Given the description of an element on the screen output the (x, y) to click on. 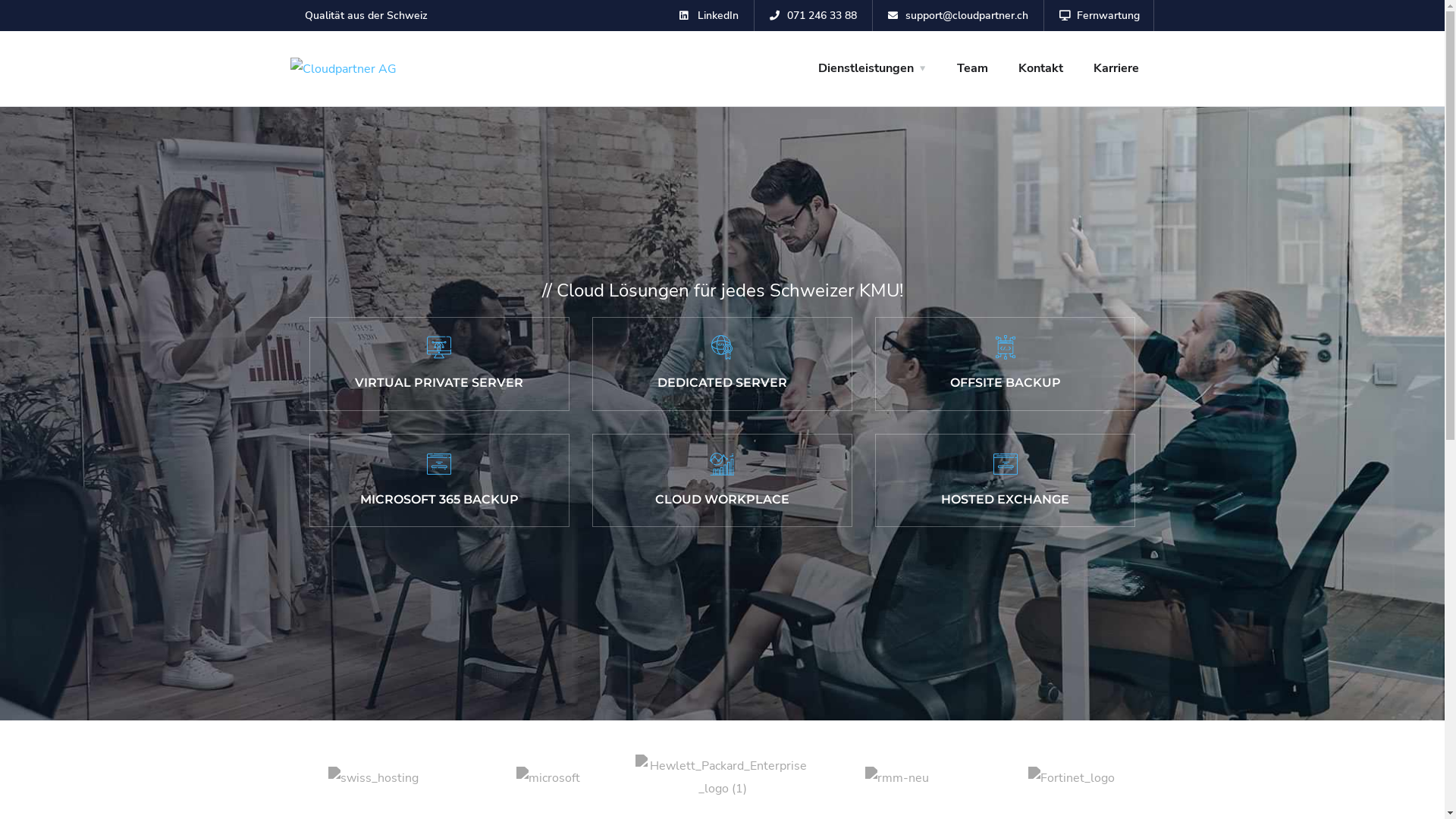
Fernwartung Element type: text (1099, 15)
071 246 33 88 Element type: text (812, 15)
MICROSOFT 365 BACKUP Element type: text (439, 480)
OFFSITE BACKUP Element type: text (1005, 363)
DEDICATED SERVER Element type: text (722, 363)
Team Element type: text (972, 68)
CLOUD WORKPLACE Element type: text (722, 480)
Karriere Element type: text (1116, 68)
Kontakt Element type: text (1040, 68)
LinkedIn Element type: text (708, 15)
VIRTUAL PRIVATE SERVER Element type: text (439, 363)
Dienstleistungen Element type: text (872, 68)
support@cloudpartner.ch Element type: text (958, 15)
HOSTED EXCHANGE Element type: text (1005, 480)
